Given the description of an element on the screen output the (x, y) to click on. 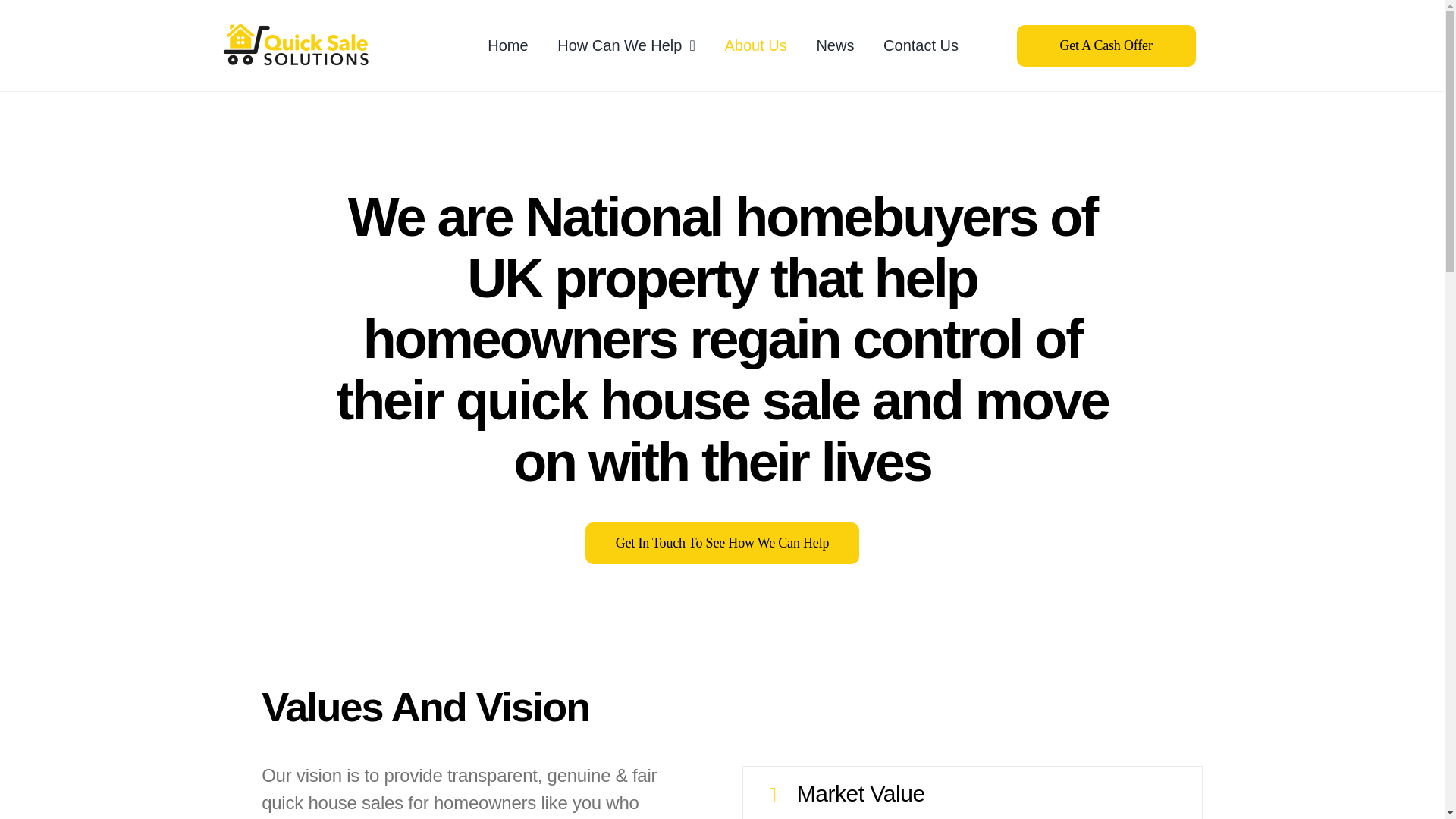
News (834, 45)
Contact Us (920, 45)
Market Value (972, 792)
Get A Cash Offer (1105, 45)
About Us (754, 45)
How Can We Help (625, 45)
Get In Touch To See How We Can Help (722, 543)
Home (507, 45)
